Given the description of an element on the screen output the (x, y) to click on. 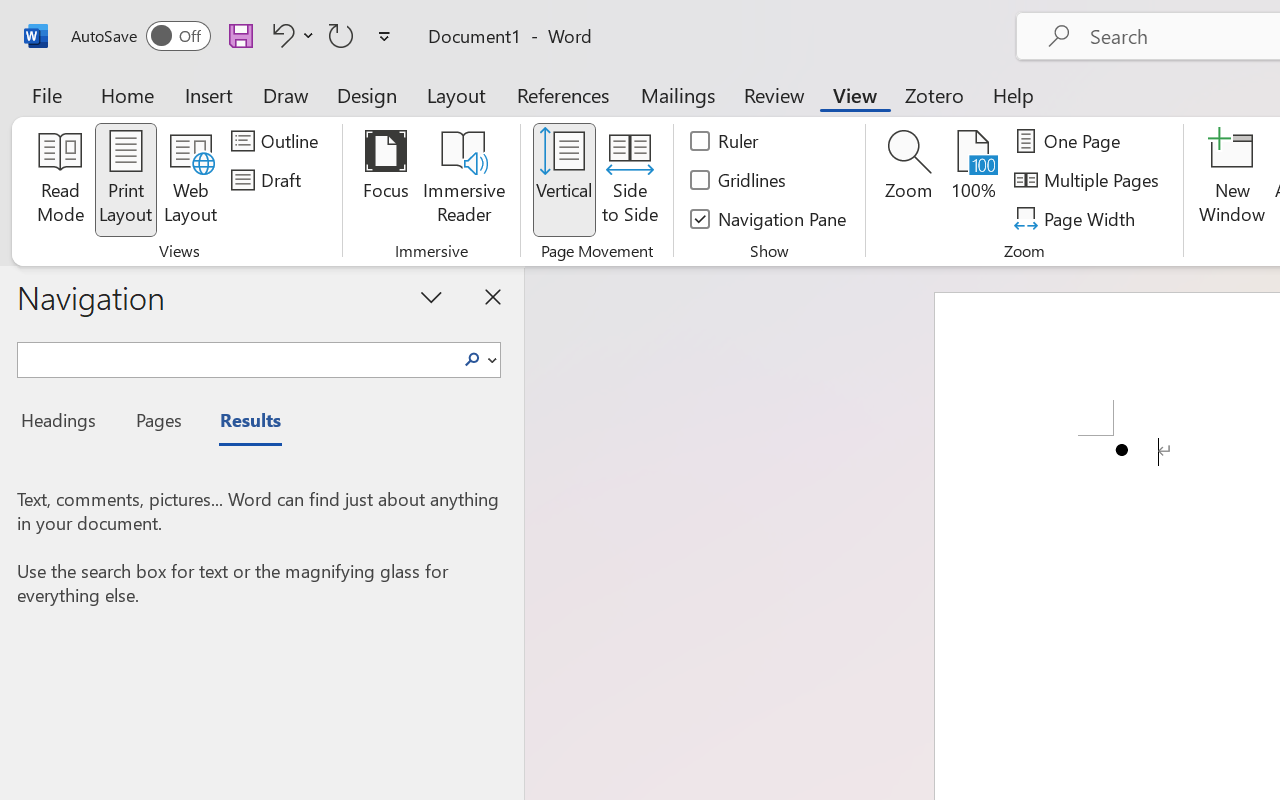
Vertical (564, 179)
Outline (278, 141)
Repeat Bullet Default (341, 35)
Search document (236, 357)
Focus (385, 179)
